Given the description of an element on the screen output the (x, y) to click on. 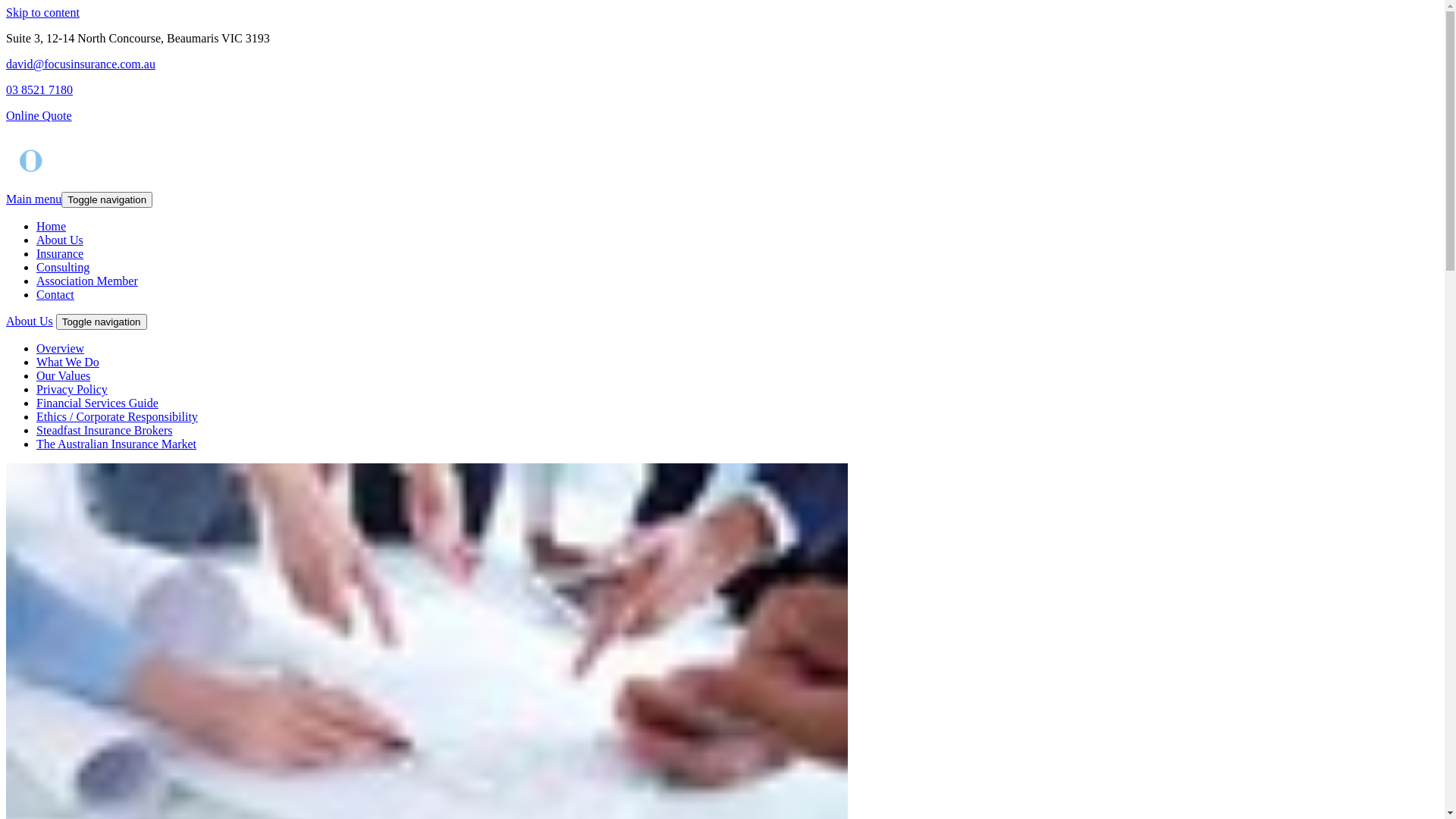
Home Element type: text (50, 225)
Skip to content Element type: text (42, 12)
Toggle navigation Element type: text (106, 199)
Consulting Element type: text (62, 266)
Main menu Element type: text (33, 198)
Association Member Element type: text (87, 280)
Financial Services Guide Element type: text (97, 402)
About Us Element type: text (29, 320)
The Australian Insurance Market Element type: text (116, 443)
Privacy Policy Element type: text (71, 388)
Online Quote Element type: text (39, 115)
Toggle navigation Element type: text (101, 321)
Contact Element type: text (55, 294)
Insurance Element type: text (59, 253)
david@focusinsurance.com.au Element type: text (80, 63)
What We Do Element type: text (67, 361)
03  Element type: text (13, 89)
Overview Element type: text (60, 348)
Ethics / Corporate Responsibility Element type: text (116, 416)
Our Values Element type: text (63, 375)
About Us Element type: text (59, 239)
Steadfast Insurance Brokers Element type: text (104, 429)
8521 7180 Element type: text (46, 89)
